Given the description of an element on the screen output the (x, y) to click on. 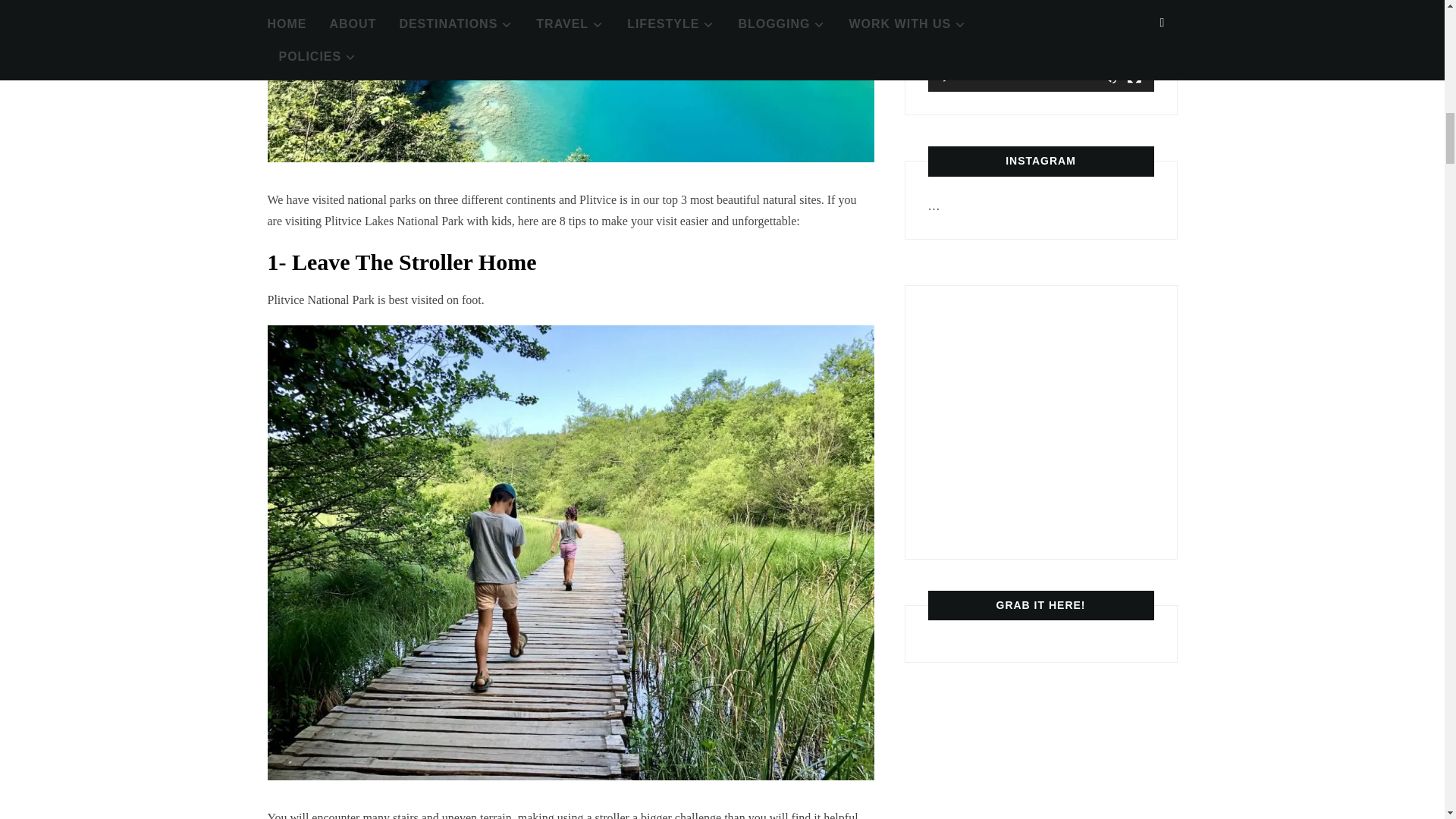
Fullscreen (1133, 76)
Mute (1110, 76)
Play (947, 76)
